Given the description of an element on the screen output the (x, y) to click on. 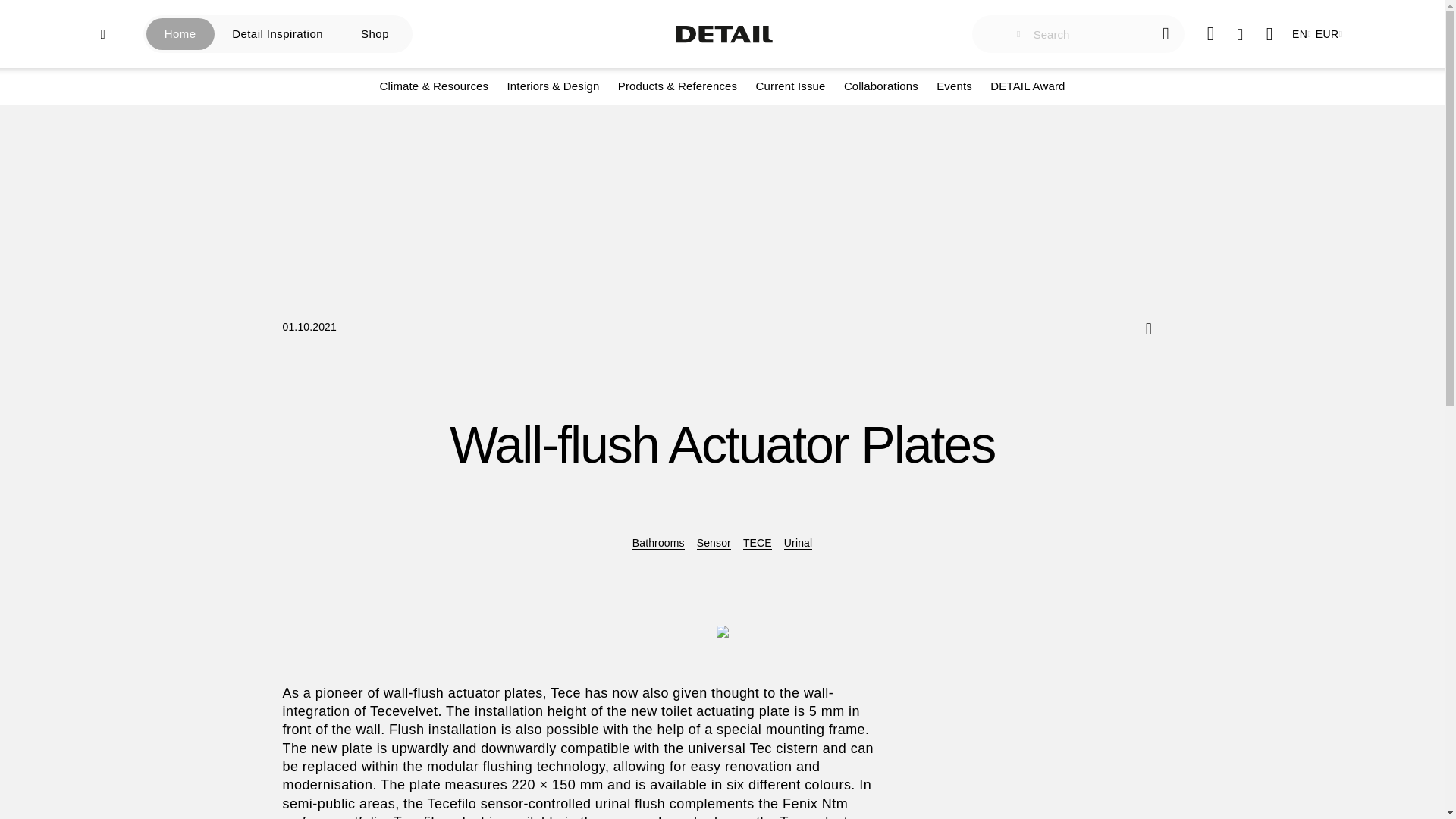
Shop (374, 33)
Home (180, 33)
Detail Inspiration (277, 33)
